Given the description of an element on the screen output the (x, y) to click on. 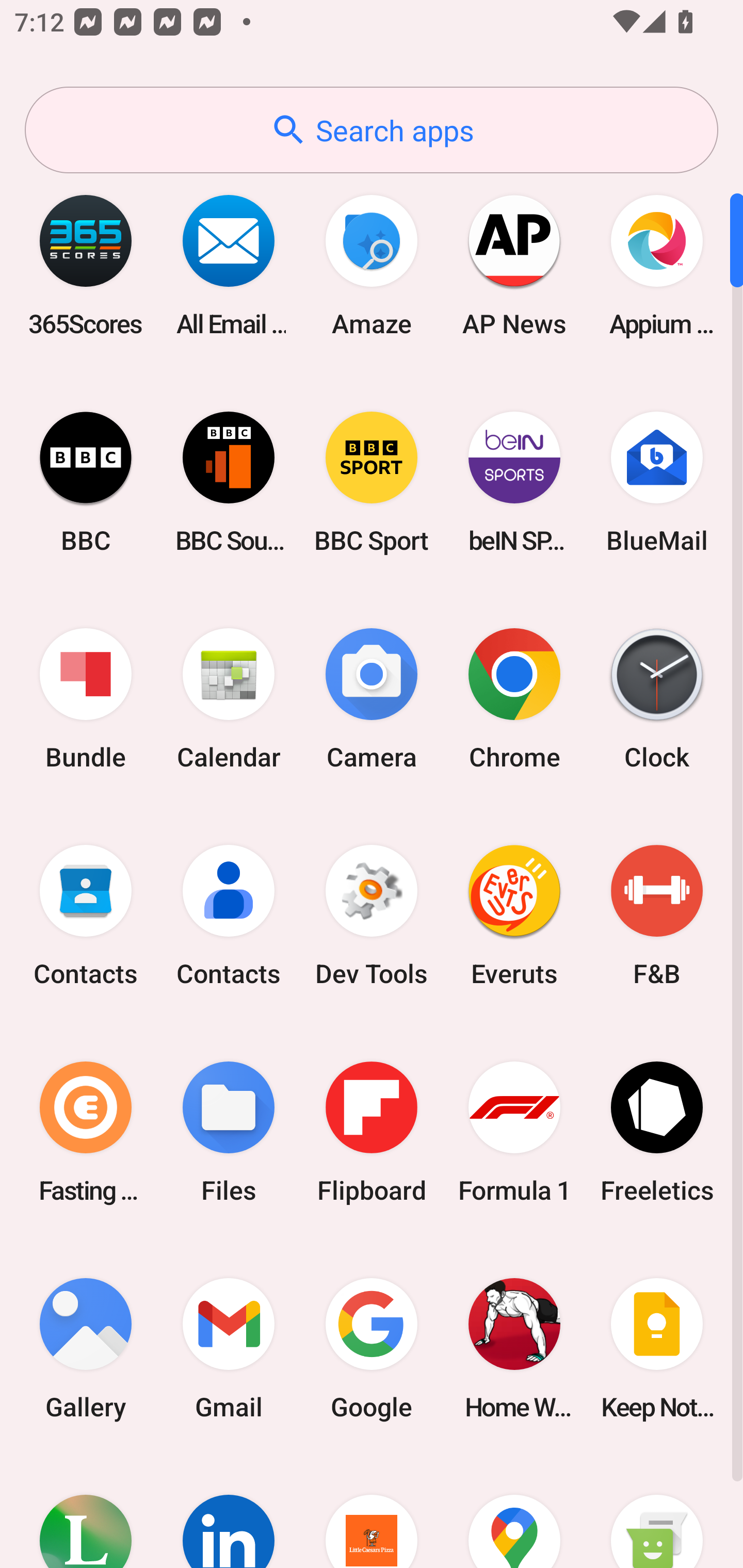
  Search apps (371, 130)
365Scores (85, 264)
All Email Connect (228, 264)
Amaze (371, 264)
AP News (514, 264)
Appium Settings (656, 264)
BBC (85, 482)
BBC Sounds (228, 482)
BBC Sport (371, 482)
beIN SPORTS (514, 482)
BlueMail (656, 482)
Bundle (85, 699)
Calendar (228, 699)
Camera (371, 699)
Chrome (514, 699)
Clock (656, 699)
Contacts (85, 915)
Contacts (228, 915)
Dev Tools (371, 915)
Everuts (514, 915)
F&B (656, 915)
Fasting Coach (85, 1131)
Files (228, 1131)
Flipboard (371, 1131)
Formula 1 (514, 1131)
Freeletics (656, 1131)
Gallery (85, 1348)
Gmail (228, 1348)
Google (371, 1348)
Home Workout (514, 1348)
Keep Notes (656, 1348)
Lifesum (85, 1512)
LinkedIn (228, 1512)
Little Caesars Pizza (371, 1512)
Maps (514, 1512)
Messaging (656, 1512)
